Given the description of an element on the screen output the (x, y) to click on. 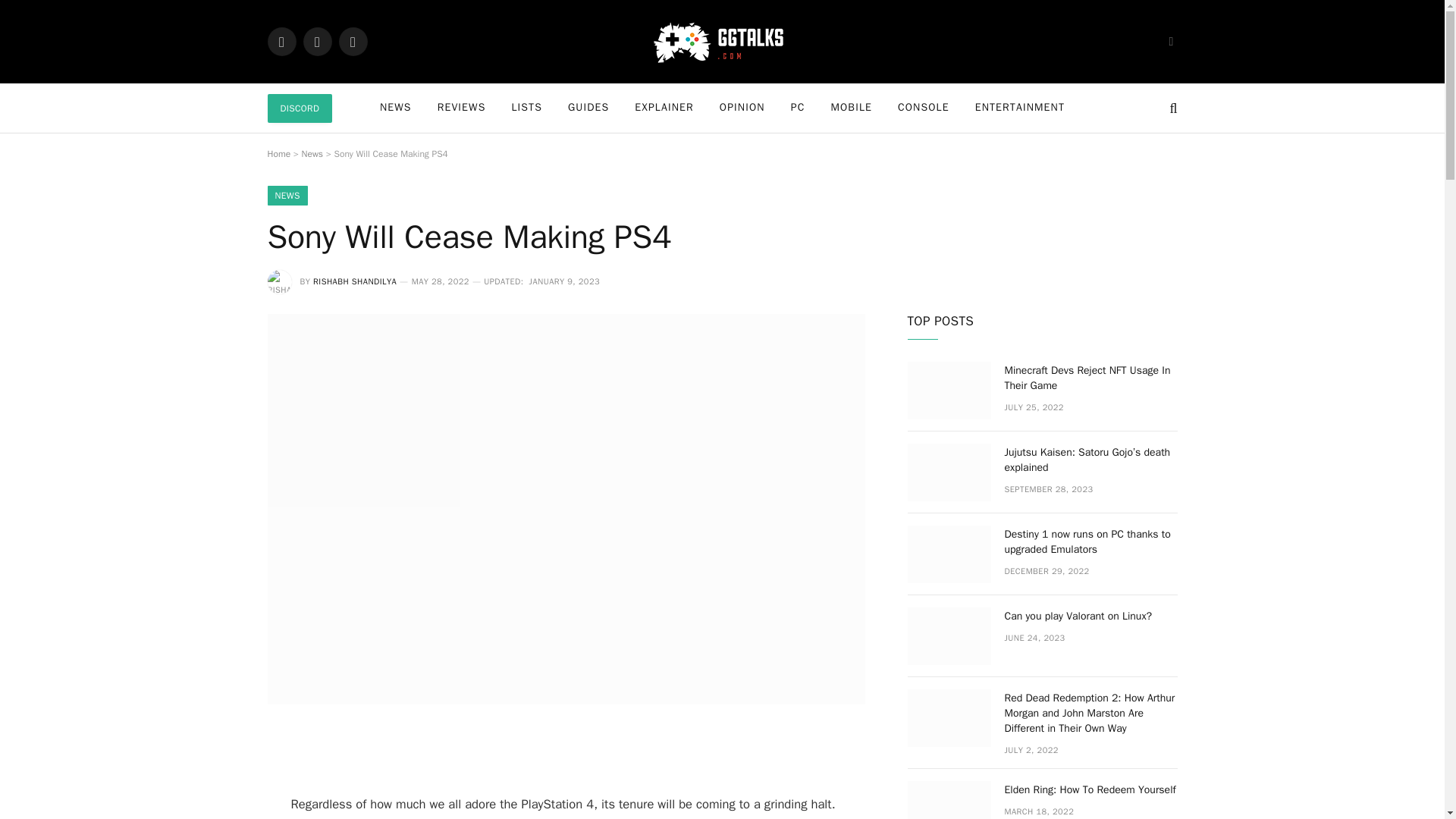
Switch to Dark Design - easier on eyes. (1168, 41)
Posts by Rishabh Shandilya (354, 281)
CONSOLE (923, 107)
NEWS (395, 107)
DISCORD (298, 108)
Instagram (351, 41)
EXPLAINER (663, 107)
GUIDES (587, 107)
RISHABH SHANDILYA (354, 281)
LISTS (525, 107)
